Given the description of an element on the screen output the (x, y) to click on. 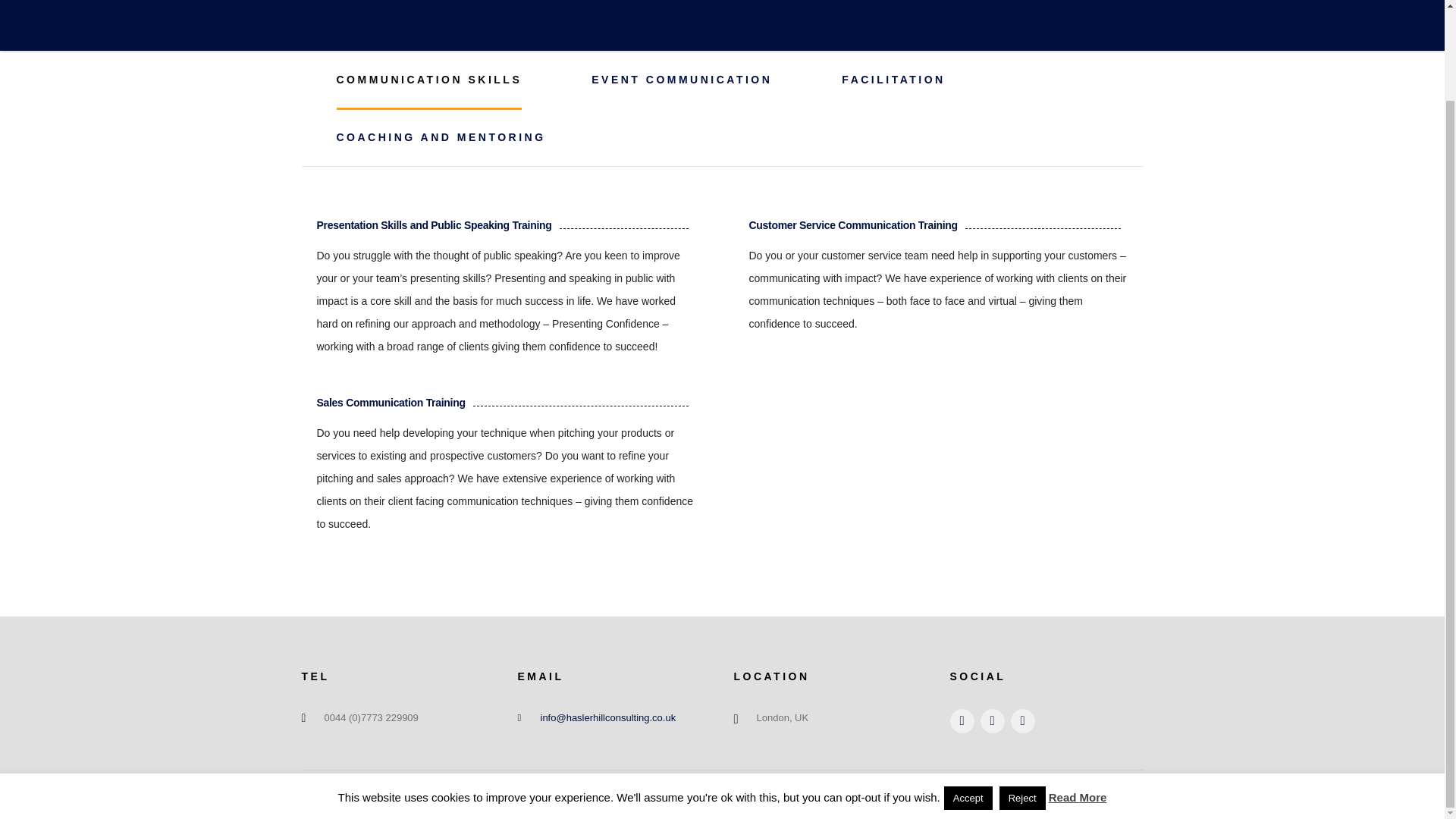
Presentation Skills and Public Speaking Training (434, 224)
Sales Communication Training (391, 402)
COMMUNICATION SKILLS (429, 79)
Customer Service Communication Training (853, 224)
FACILITATION (892, 79)
COACHING AND MENTORING (441, 137)
EVENT COMMUNICATION (681, 79)
